Given the description of an element on the screen output the (x, y) to click on. 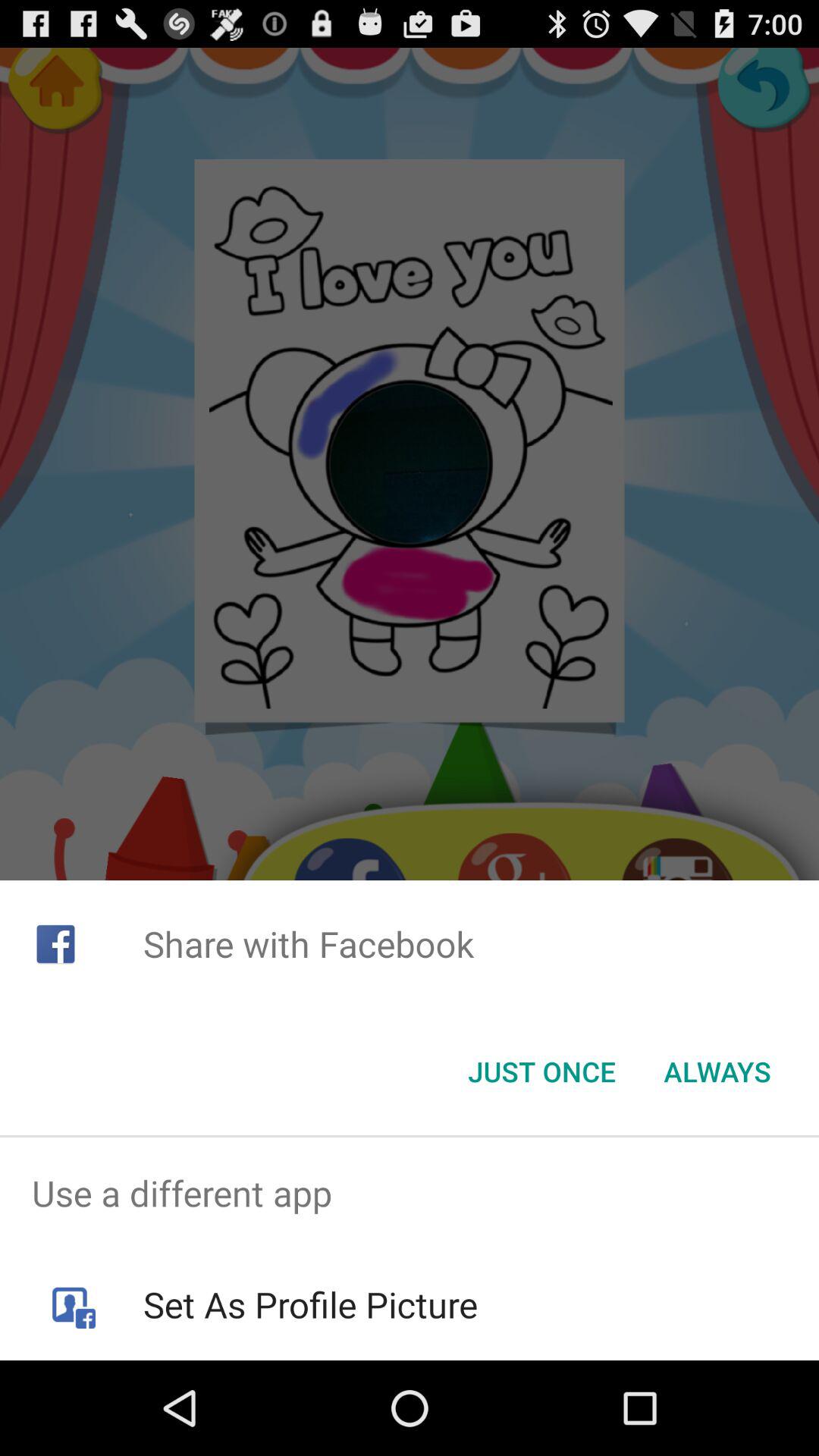
flip to set as profile item (310, 1304)
